Given the description of an element on the screen output the (x, y) to click on. 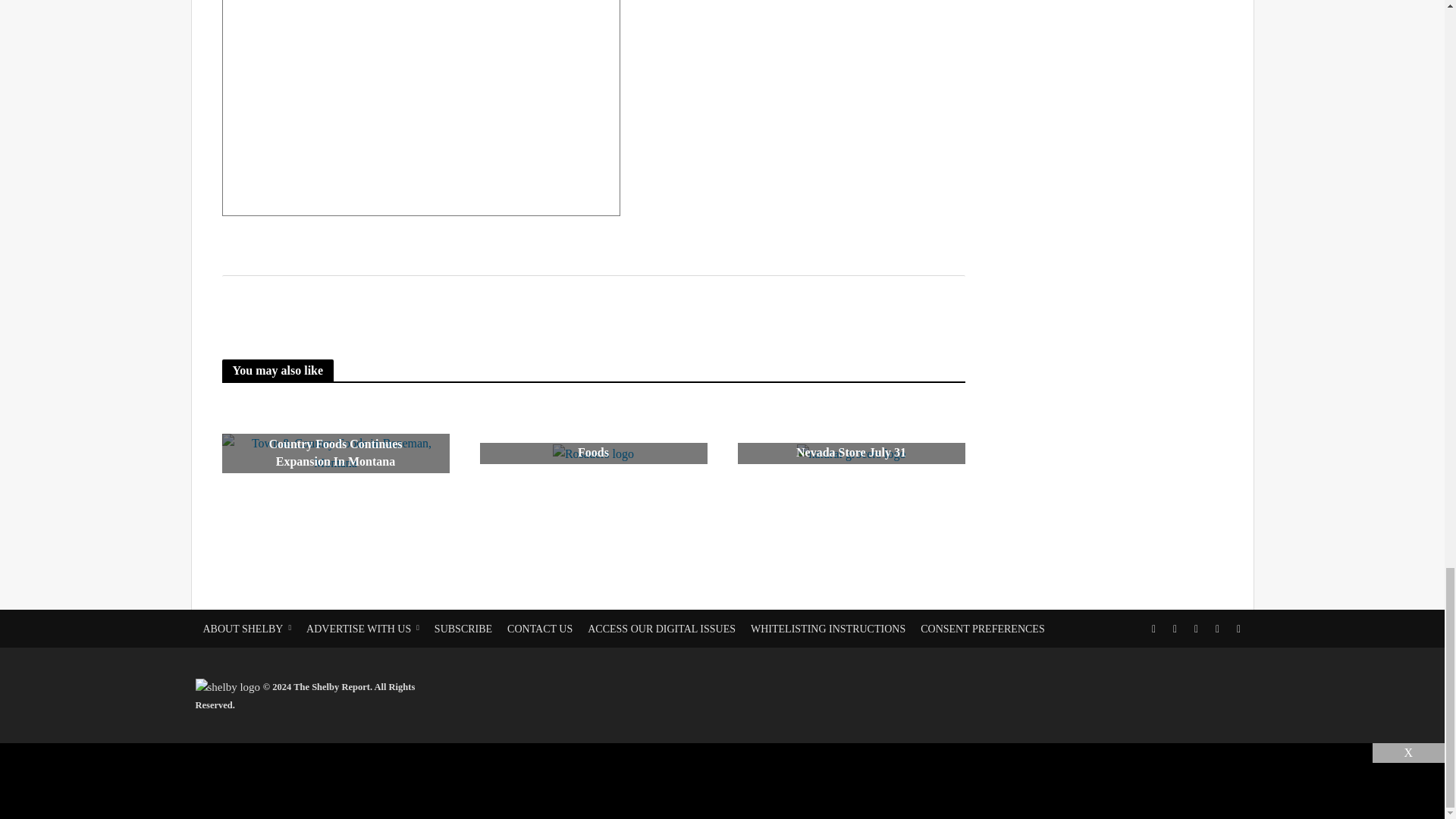
Natural Grocers To Open New Nevada Store July 31 (849, 453)
